Given the description of an element on the screen output the (x, y) to click on. 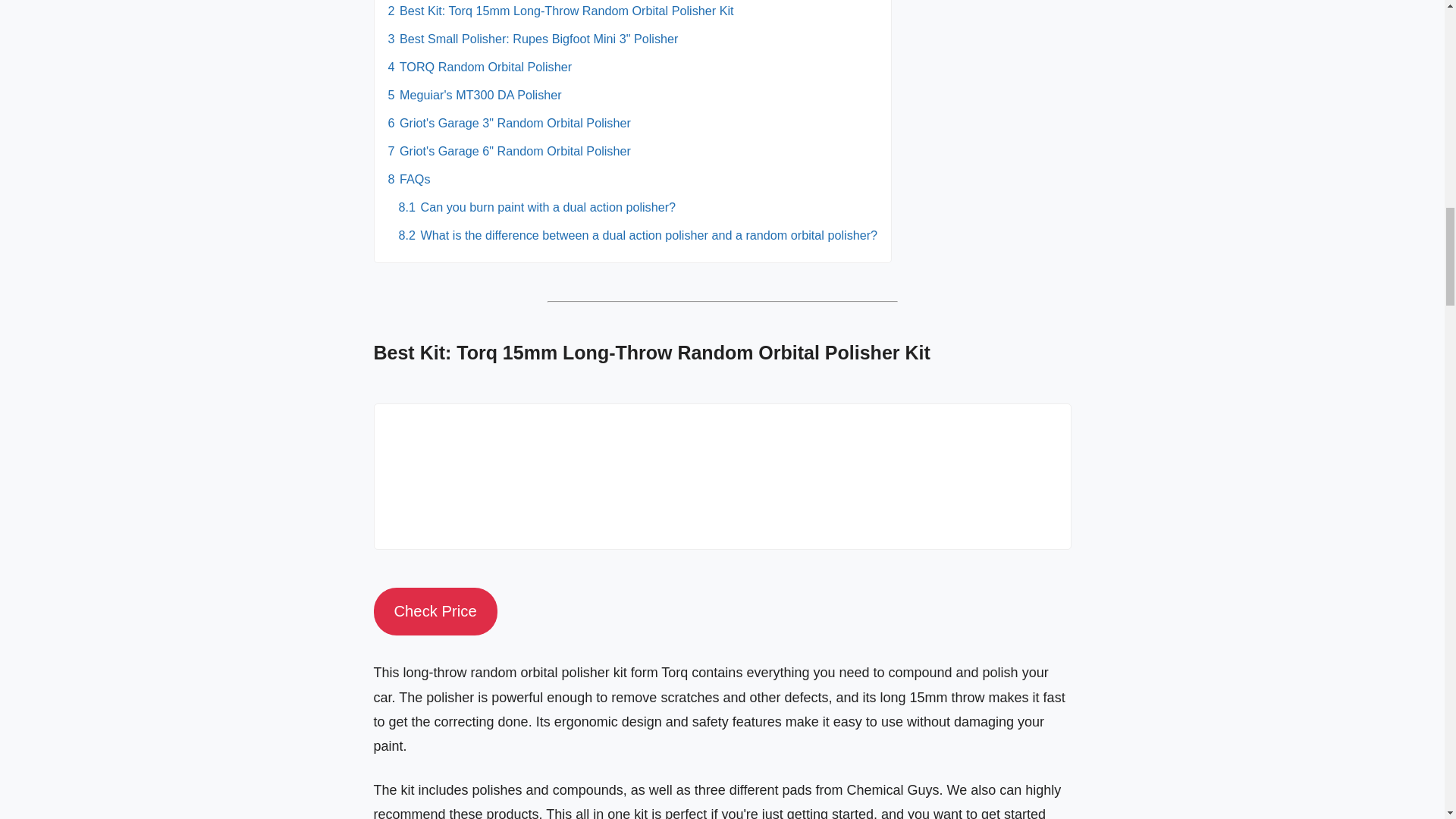
6 Griot's Garage 3" Random Orbital Polisher (509, 122)
8 FAQs (409, 178)
2 Best Kit: Torq 15mm Long-Throw Random Orbital Polisher Kit (560, 10)
7 Griot's Garage 6" Random Orbital Polisher (509, 151)
5 Meguiar's MT300 DA Polisher (475, 94)
4 TORQ Random Orbital Polisher (480, 66)
Check Price (434, 611)
8.1 Can you burn paint with a dual action polisher? (537, 206)
3 Best Small Polisher: Rupes Bigfoot Mini 3" Polisher (533, 38)
